Given the description of an element on the screen output the (x, y) to click on. 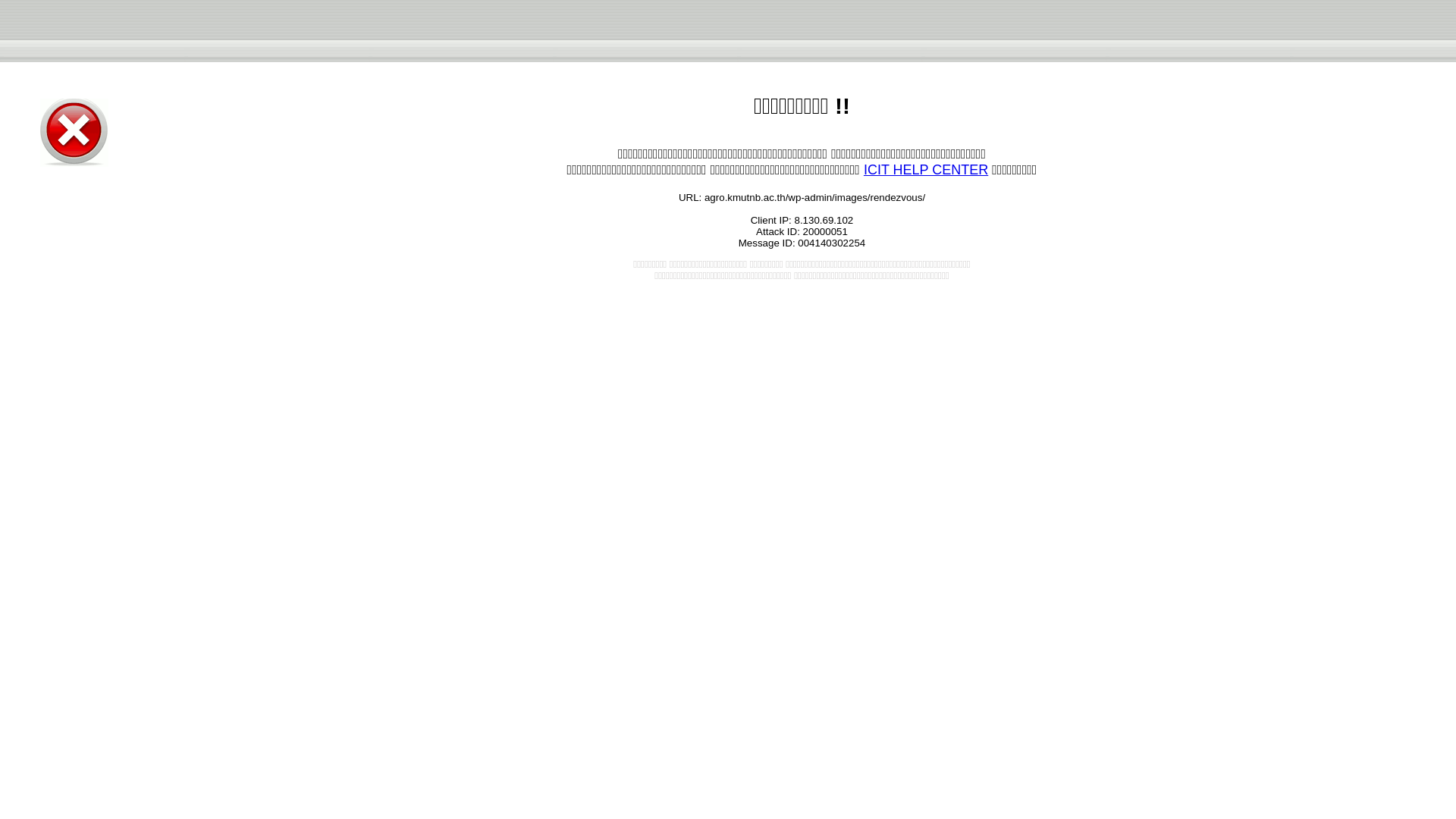
ICIT HELP CENTER (925, 169)
